Given the description of an element on the screen output the (x, y) to click on. 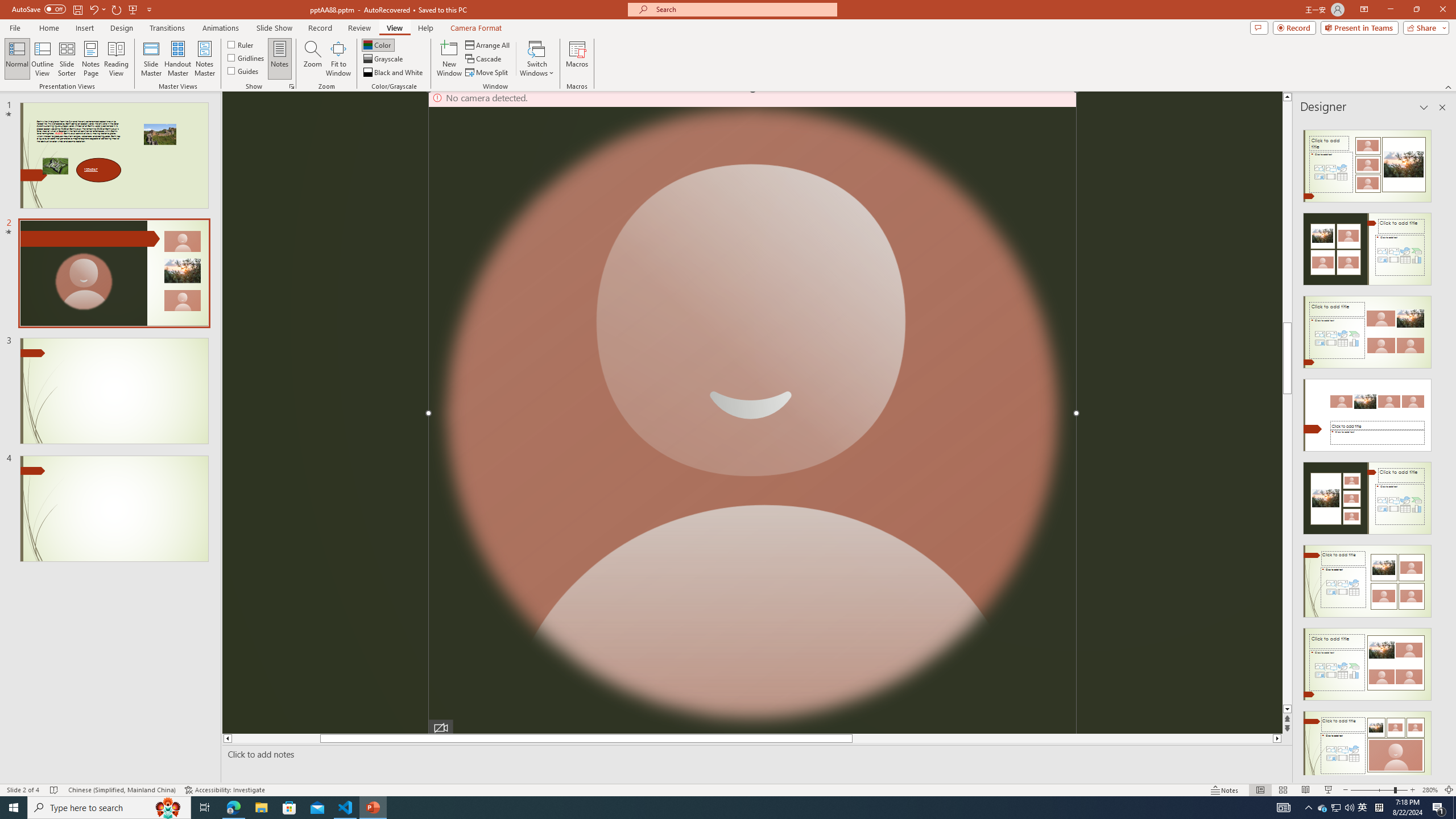
Reading View (1305, 790)
Design Idea (1366, 743)
Animations (220, 28)
Camera Format (475, 28)
Grayscale (383, 58)
Cascade (484, 58)
Zoom 280% (1430, 790)
Switch Windows (537, 58)
Ribbon Display Options (1364, 9)
Notes (279, 58)
